Given the description of an element on the screen output the (x, y) to click on. 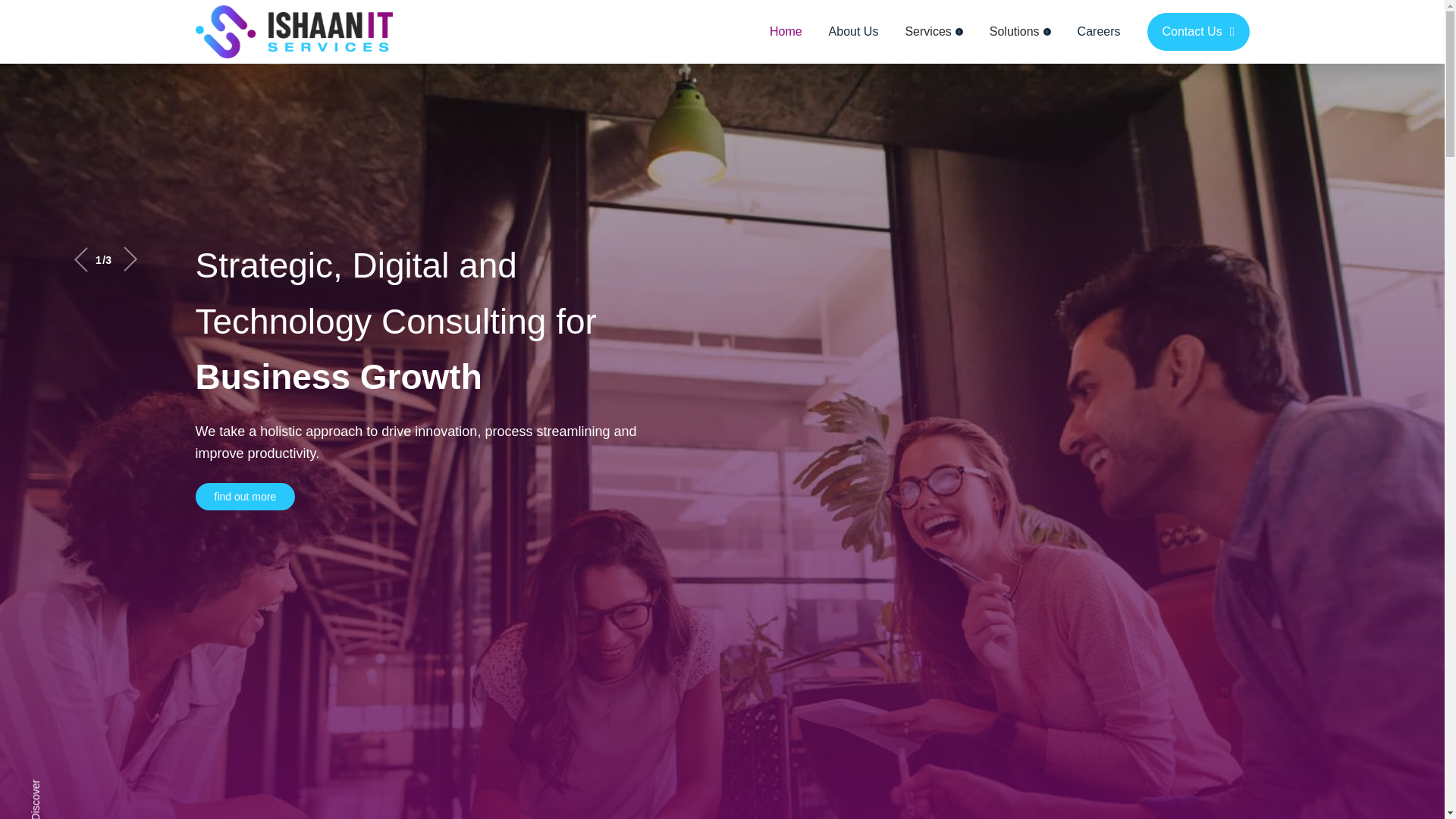
Discover (63, 805)
Careers (1099, 31)
Services (933, 31)
Ishaan IT  (294, 31)
Contact Us (1198, 31)
Solutions (1020, 31)
About Us (853, 31)
